Given the description of an element on the screen output the (x, y) to click on. 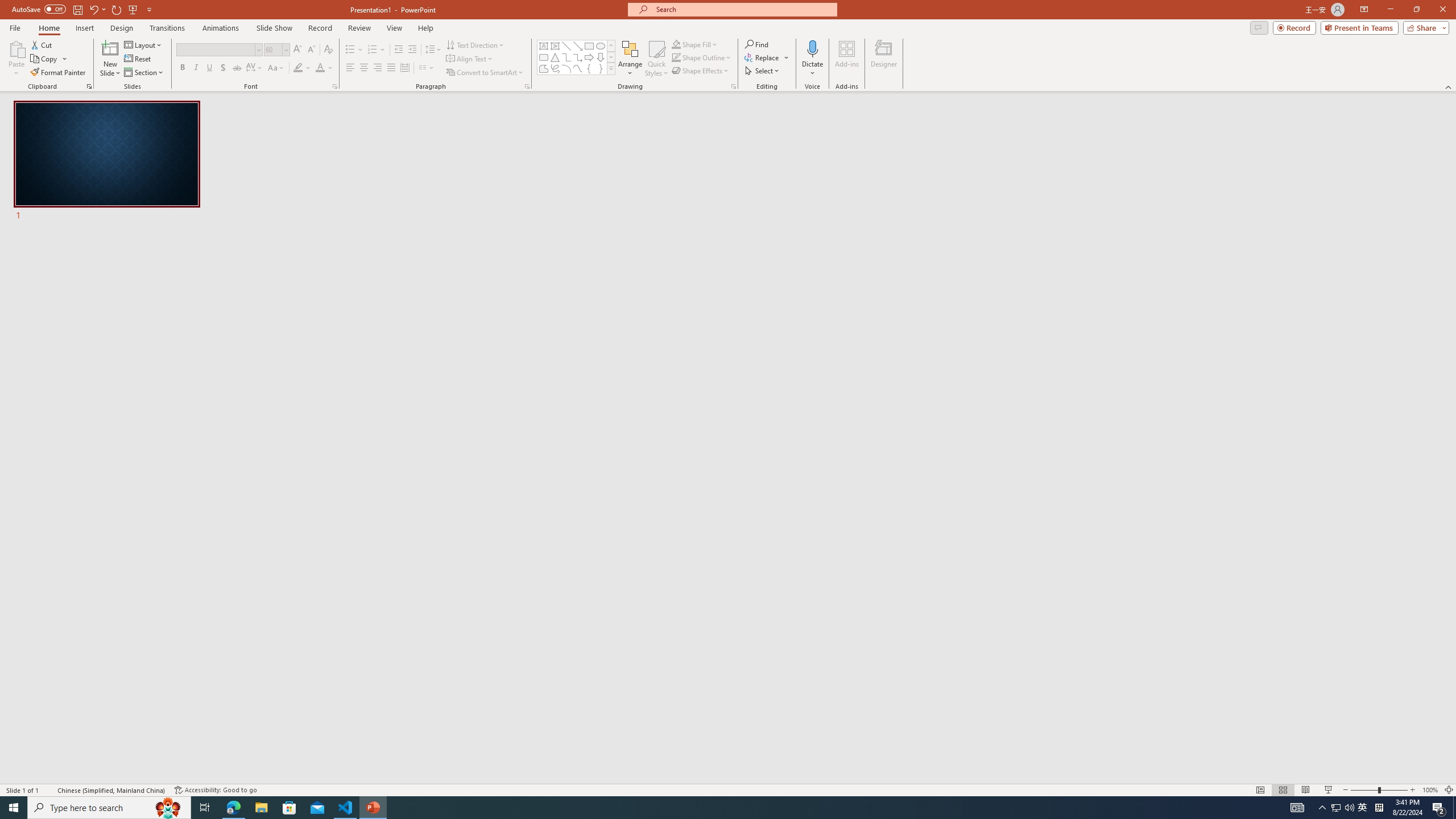
Right Brace (600, 68)
Connector: Elbow (566, 57)
Rectangle (589, 45)
Dictate (812, 48)
Shapes (611, 68)
Slide Sorter (1282, 790)
Paste (16, 58)
Home (48, 28)
Ribbon Display Options (1364, 9)
Character Spacing (254, 67)
Select (762, 69)
Minimize (1390, 9)
Replace... (762, 56)
Row Down (611, 56)
